Given the description of an element on the screen output the (x, y) to click on. 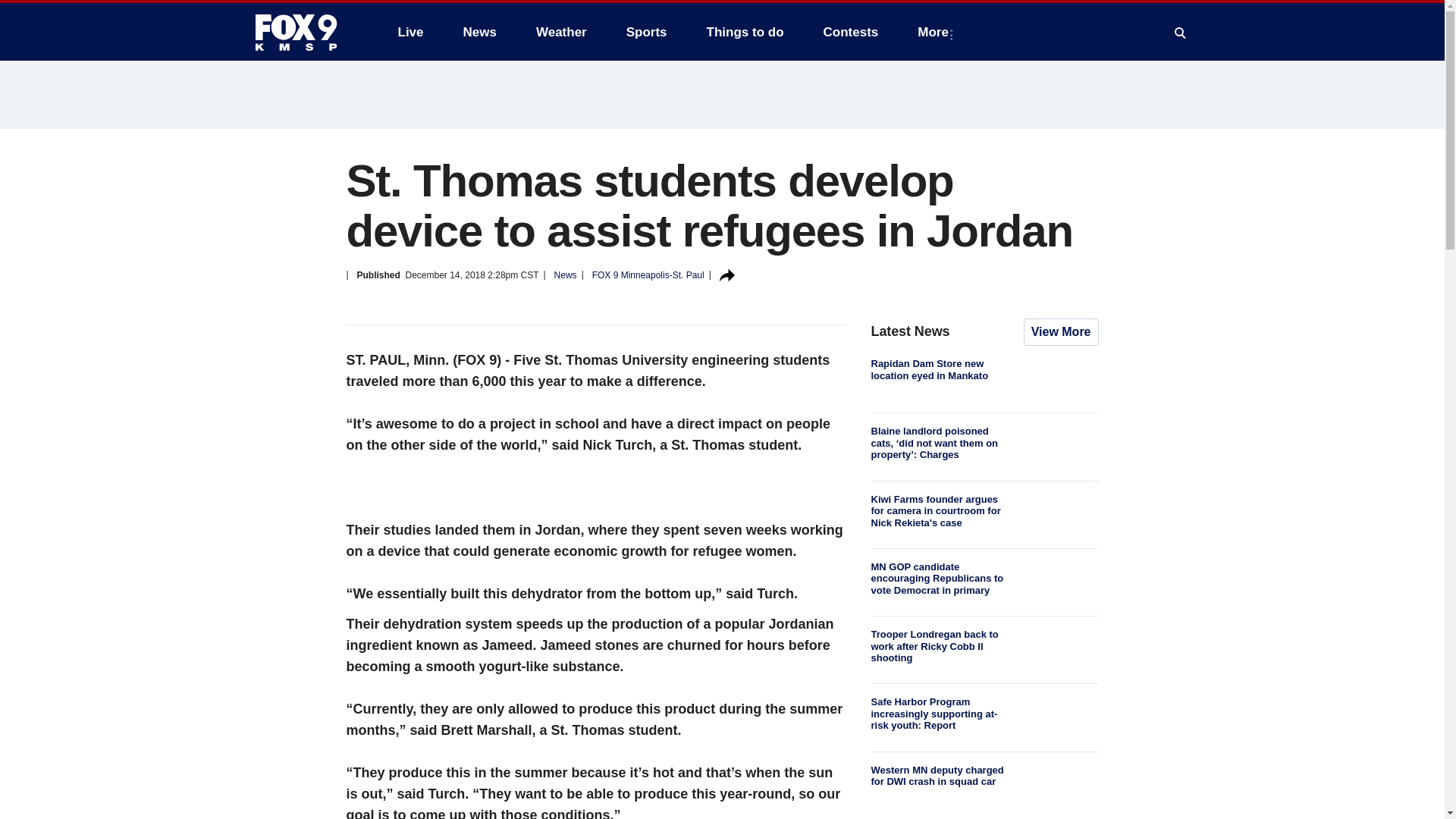
Things to do (745, 32)
More (935, 32)
News (479, 32)
Weather (561, 32)
Live (410, 32)
Contests (850, 32)
Sports (646, 32)
